Given the description of an element on the screen output the (x, y) to click on. 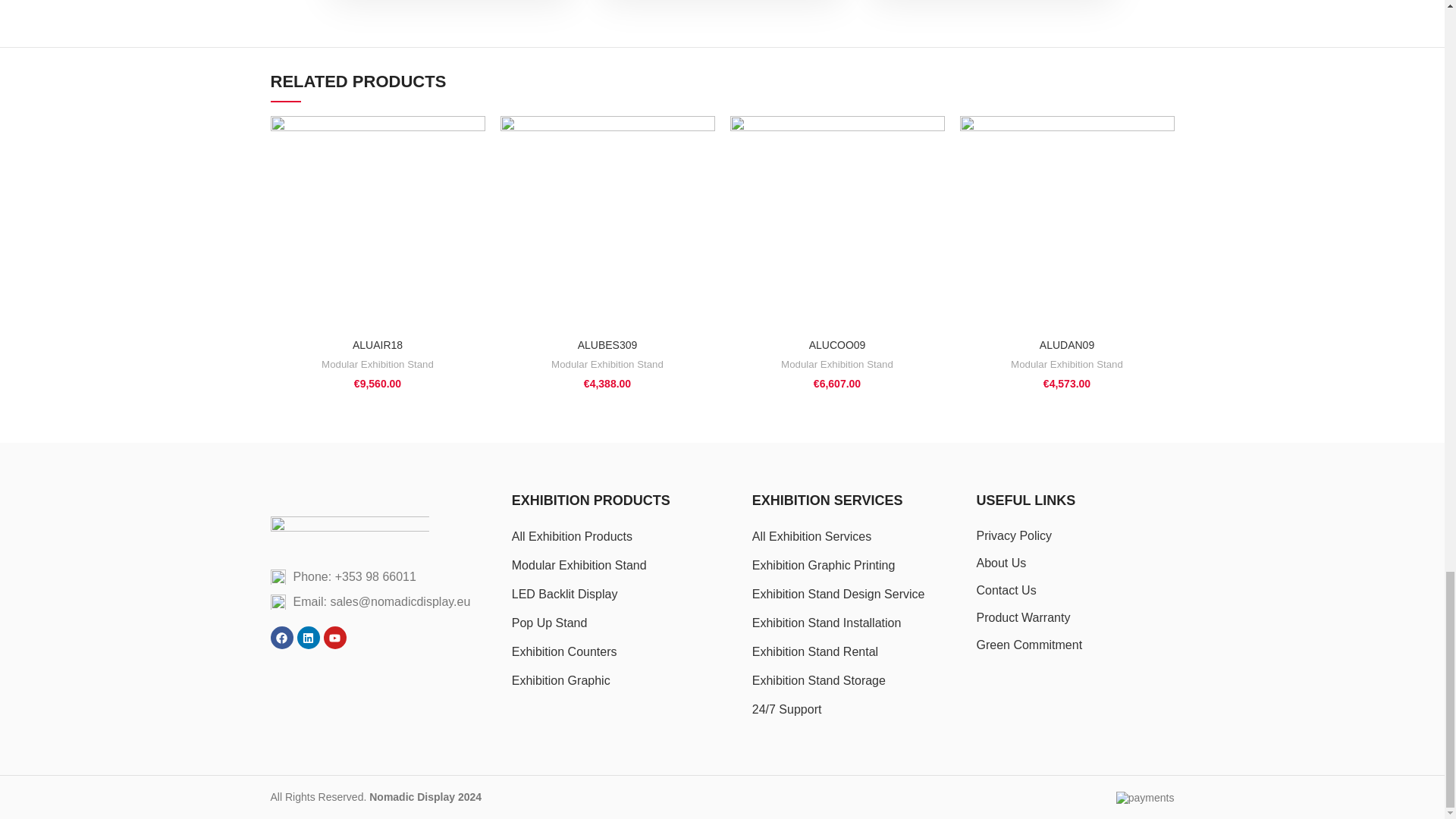
wd-envelope-dark (277, 601)
wd-phone-dark (277, 576)
